Given the description of an element on the screen output the (x, y) to click on. 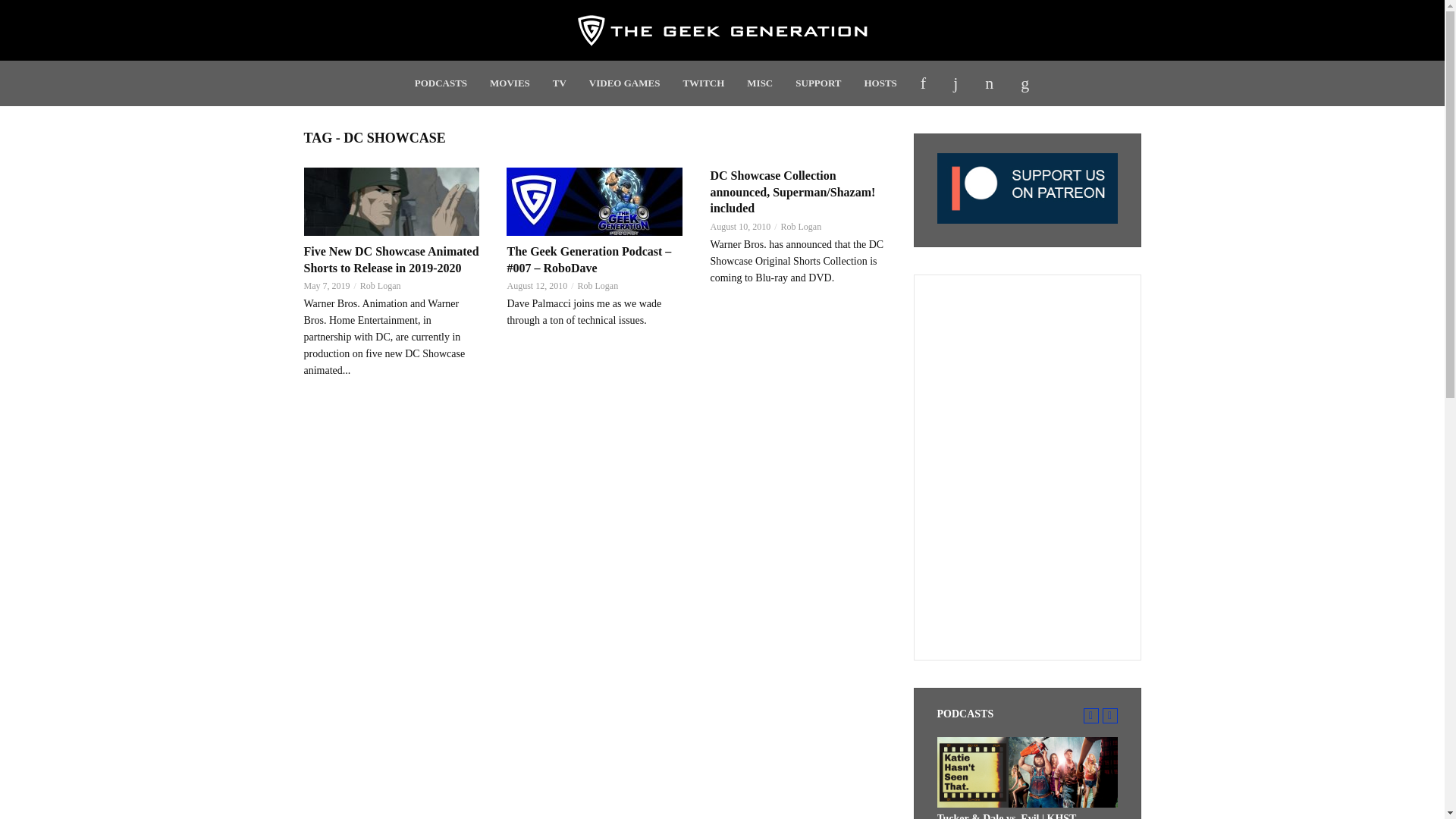
MOVIES (510, 83)
PODCASTS (441, 83)
TWITCH (703, 83)
SUPPORT (817, 83)
HOSTS (879, 83)
VIDEO GAMES (624, 83)
Five New DC Showcase Animated Shorts to Release in 2019-2020 (390, 201)
MISC (759, 83)
